Given the description of an element on the screen output the (x, y) to click on. 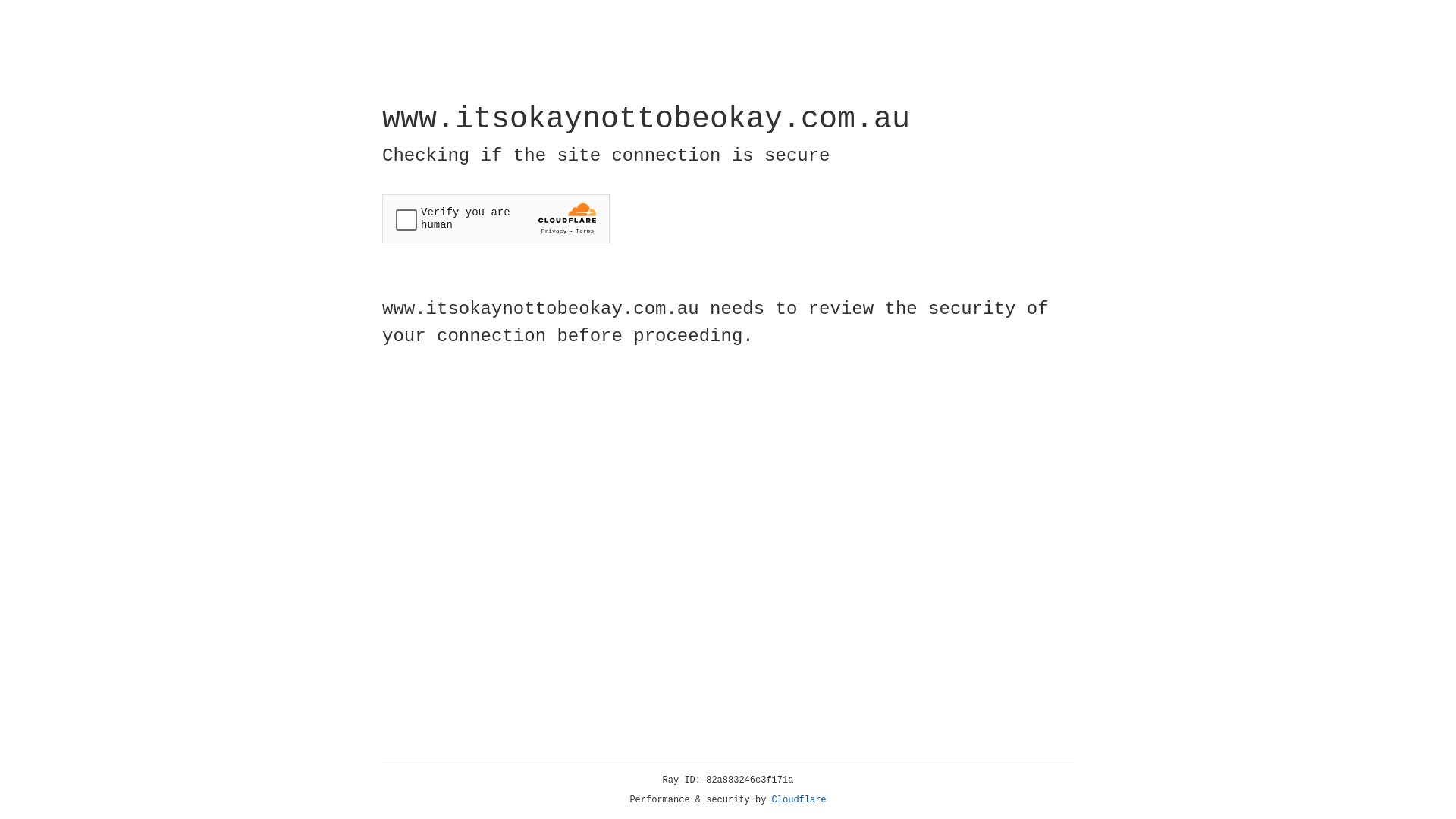
Widget containing a Cloudflare security challenge Element type: hover (495, 218)
Cloudflare Element type: text (798, 799)
